Given the description of an element on the screen output the (x, y) to click on. 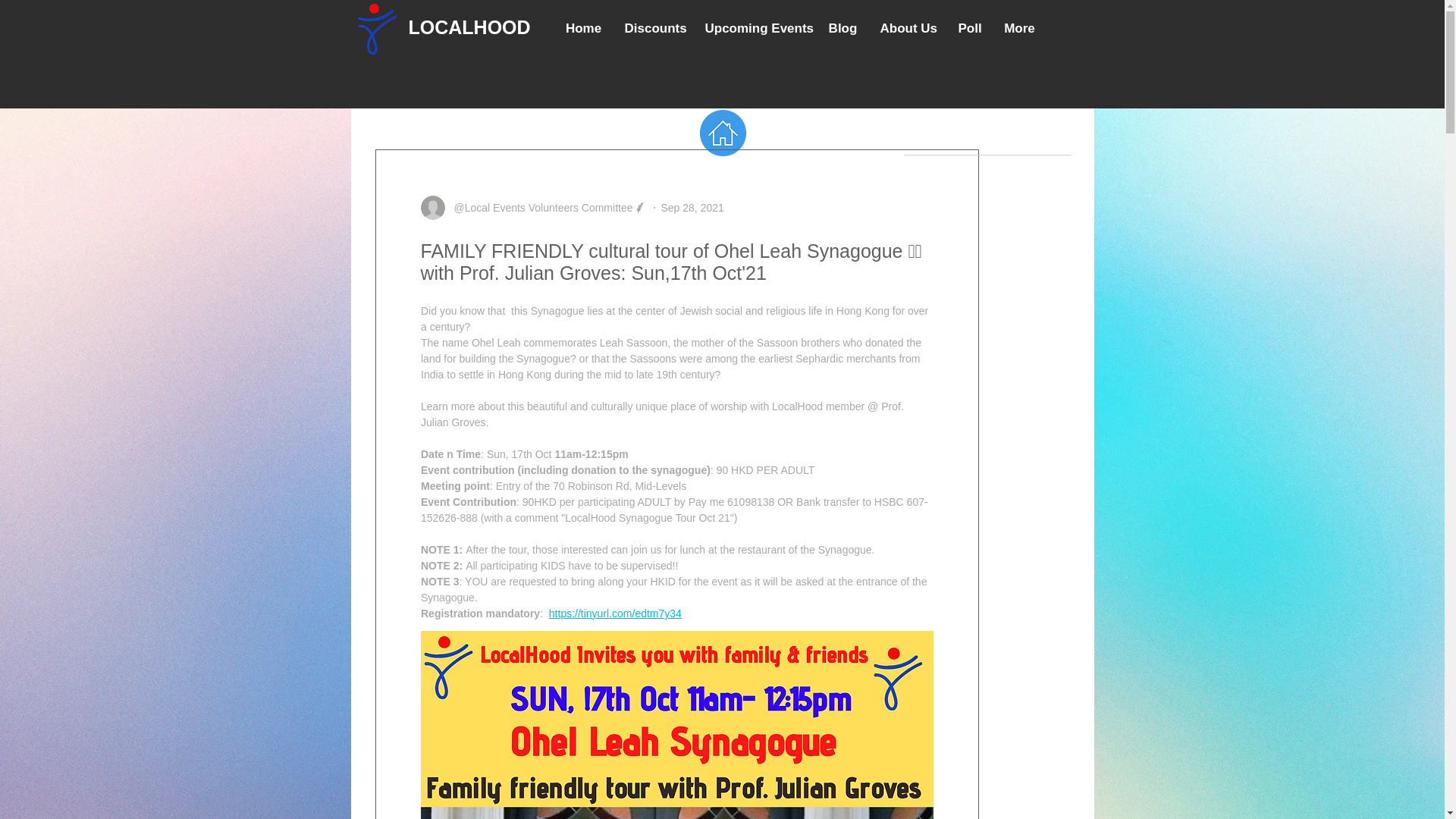
Upcoming Events (754, 28)
Sep 28, 2021 (692, 207)
About Us (908, 28)
Discounts (652, 28)
Home (582, 28)
Blog (842, 28)
Poll (968, 28)
